Given the description of an element on the screen output the (x, y) to click on. 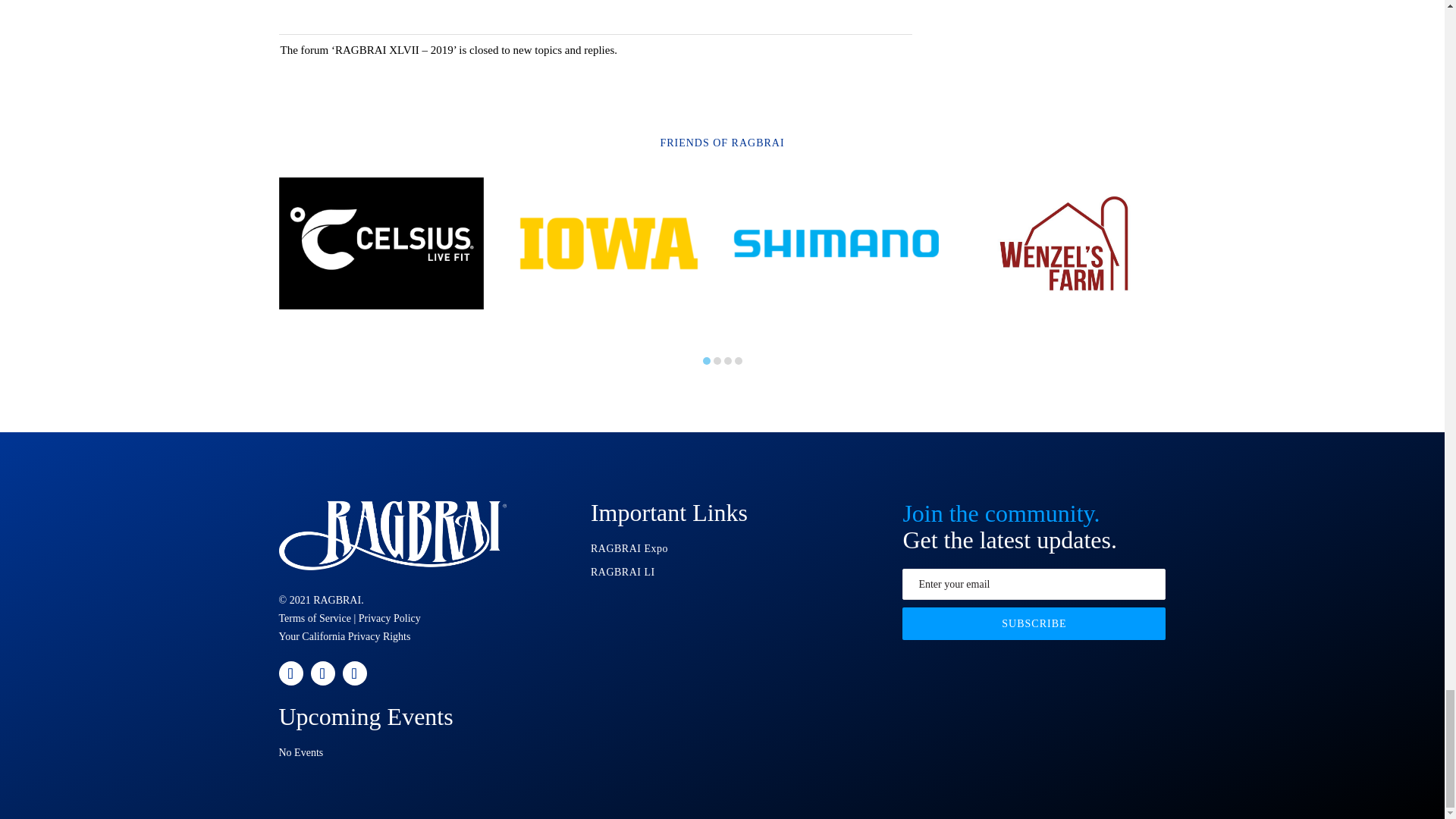
Subscribe (1034, 623)
